Given the description of an element on the screen output the (x, y) to click on. 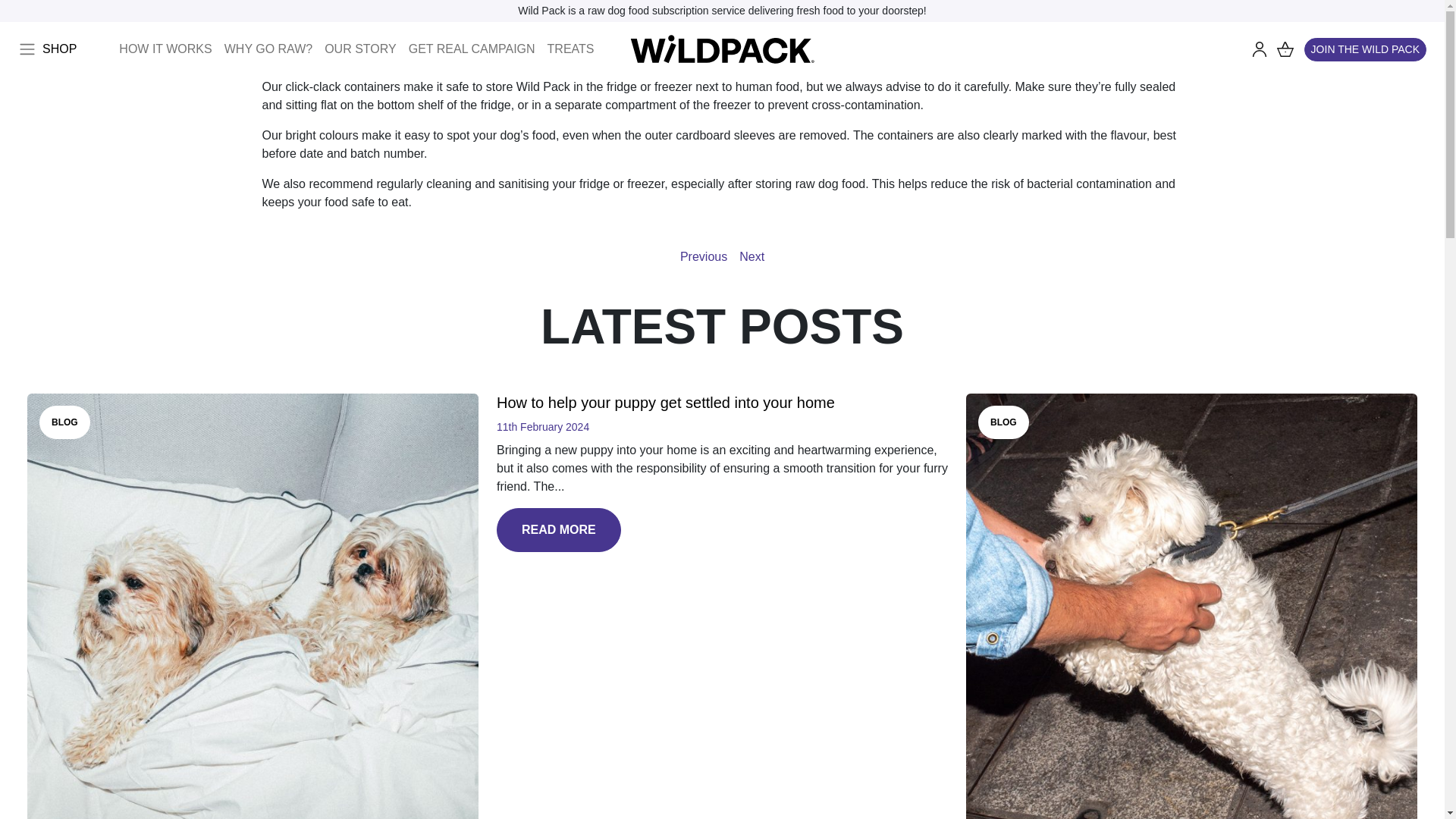
Our Story (360, 49)
TREATS (570, 49)
Why Go Raw? (268, 49)
TREATS (570, 49)
Get Real Campaign (472, 49)
GET REAL CAMPAIGN (472, 49)
JOIN THE WILD PACK (1365, 49)
READ MORE (558, 529)
Previous (702, 256)
How to help your puppy get settled into your home (665, 402)
Next (751, 256)
HOW IT WORKS (164, 49)
How it works (164, 49)
Wild Pack (722, 49)
OUR STORY (360, 49)
